Given the description of an element on the screen output the (x, y) to click on. 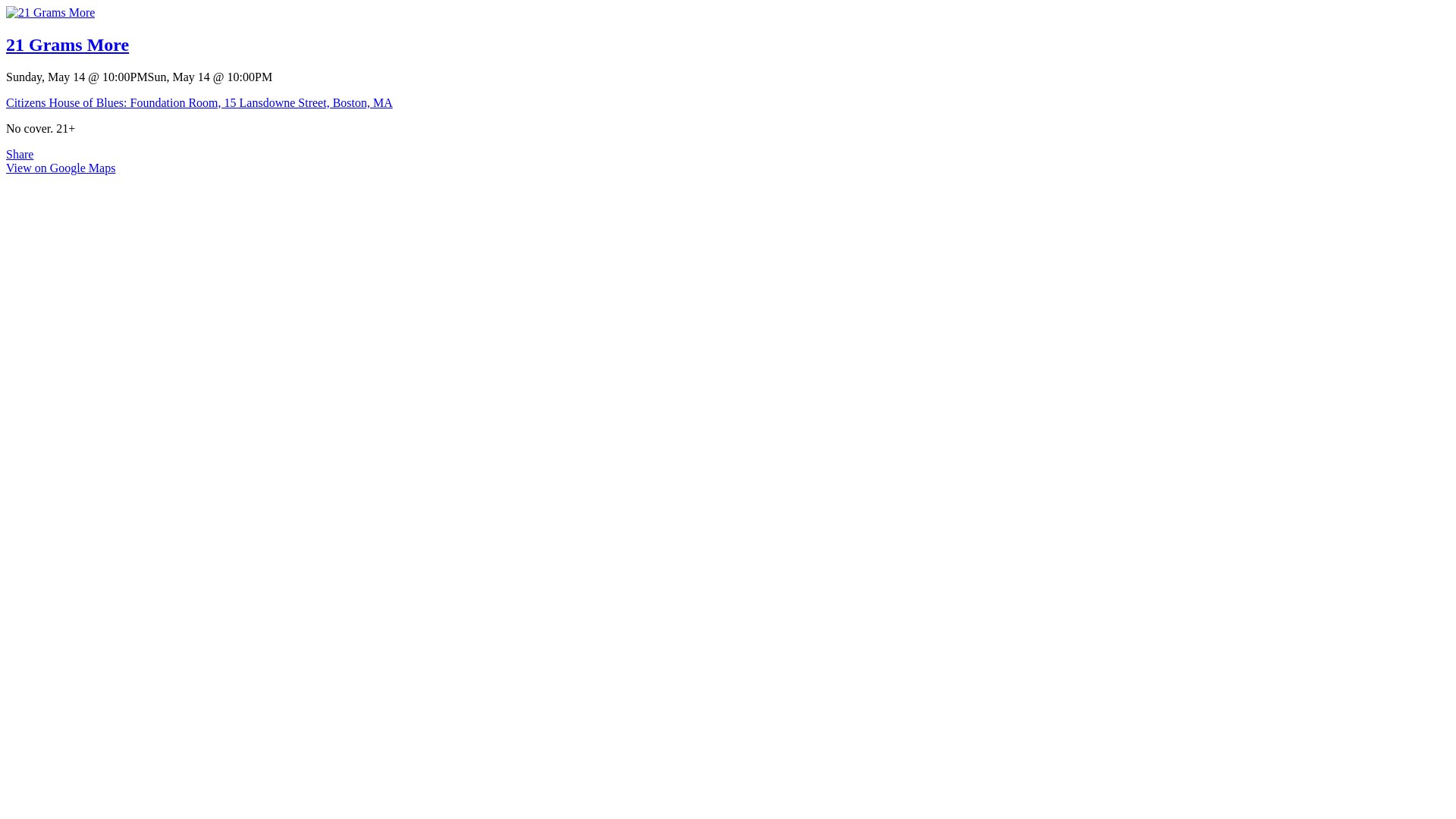
21 Grams More Element type: hover (50, 12)
Share Element type: text (19, 153)
21 Grams More Element type: text (67, 44)
View on Google Maps Element type: text (60, 167)
